Given the description of an element on the screen output the (x, y) to click on. 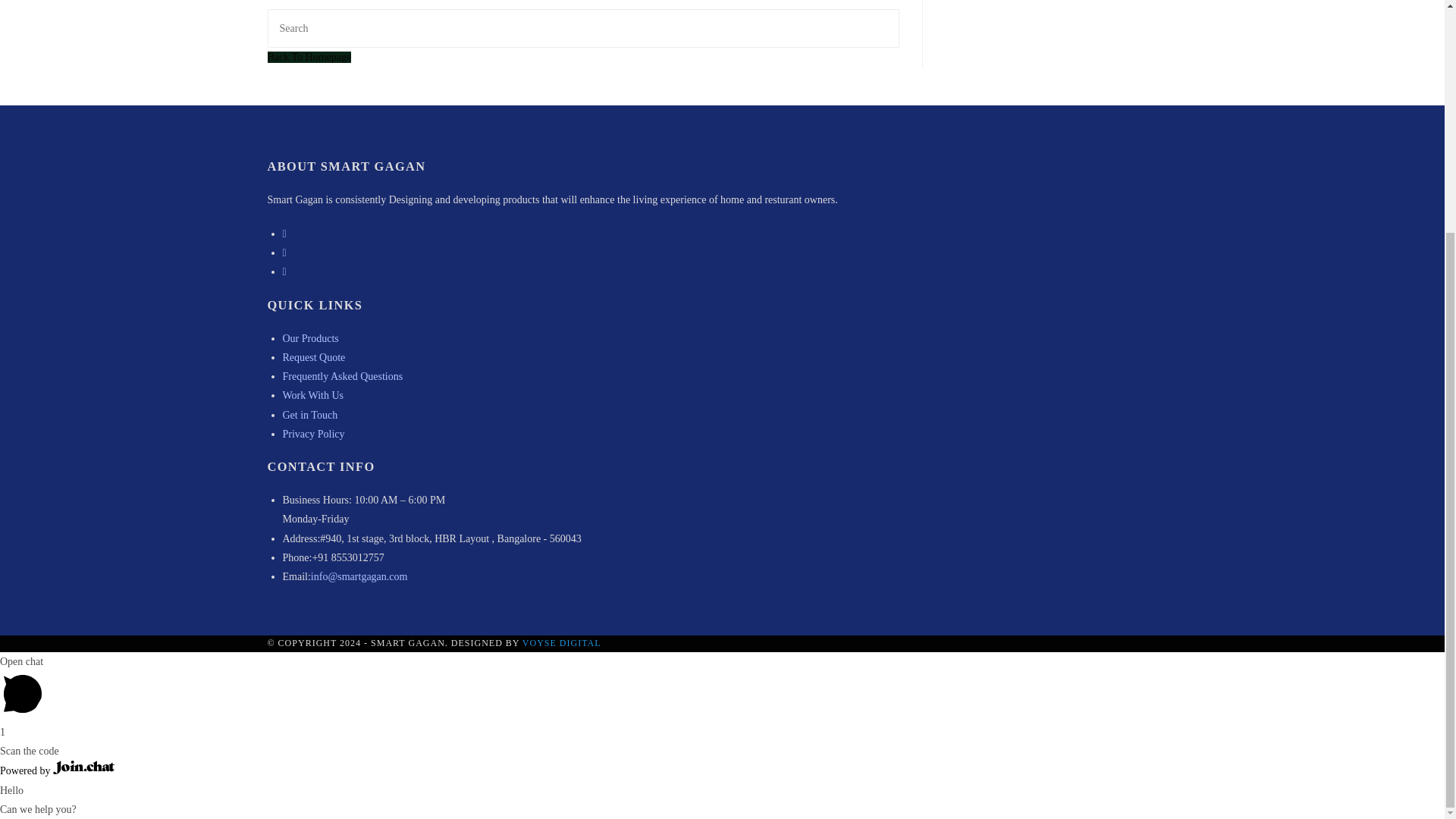
Joinchat (83, 766)
Our Products (309, 337)
Back To Homepage (308, 57)
